Given the description of an element on the screen output the (x, y) to click on. 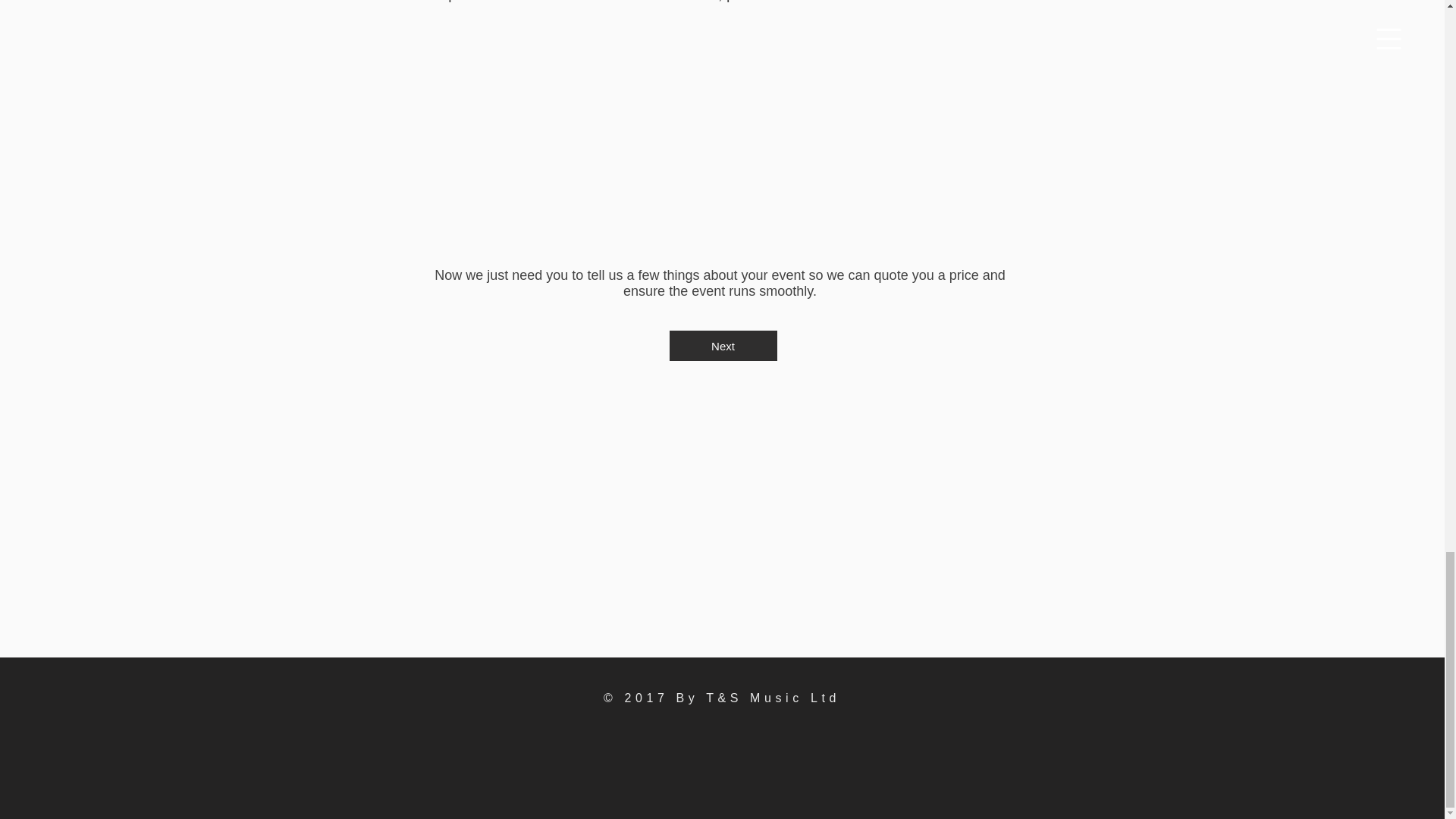
Next (722, 345)
